Given the description of an element on the screen output the (x, y) to click on. 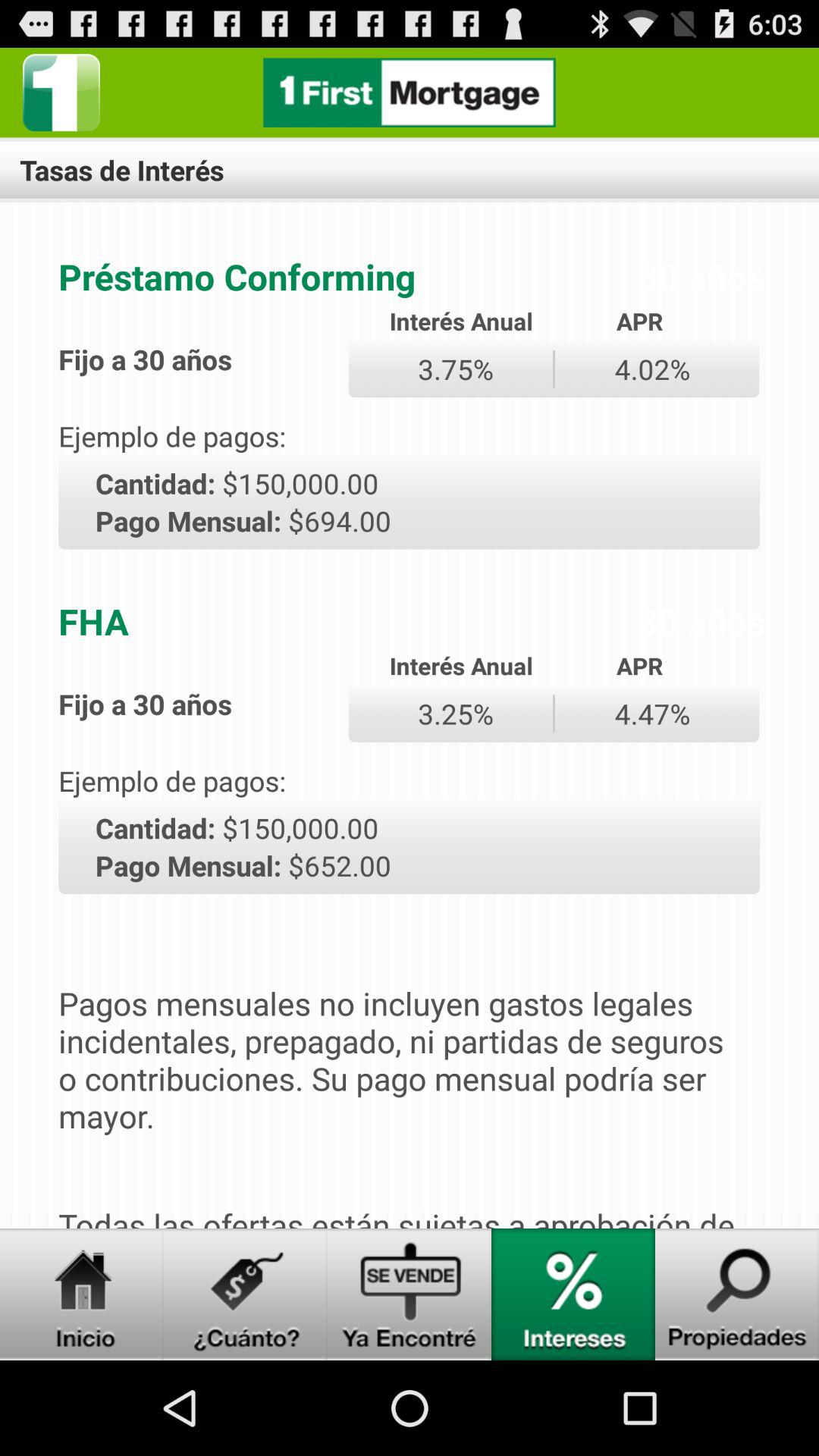
calculate interest (573, 1294)
